Given the description of an element on the screen output the (x, y) to click on. 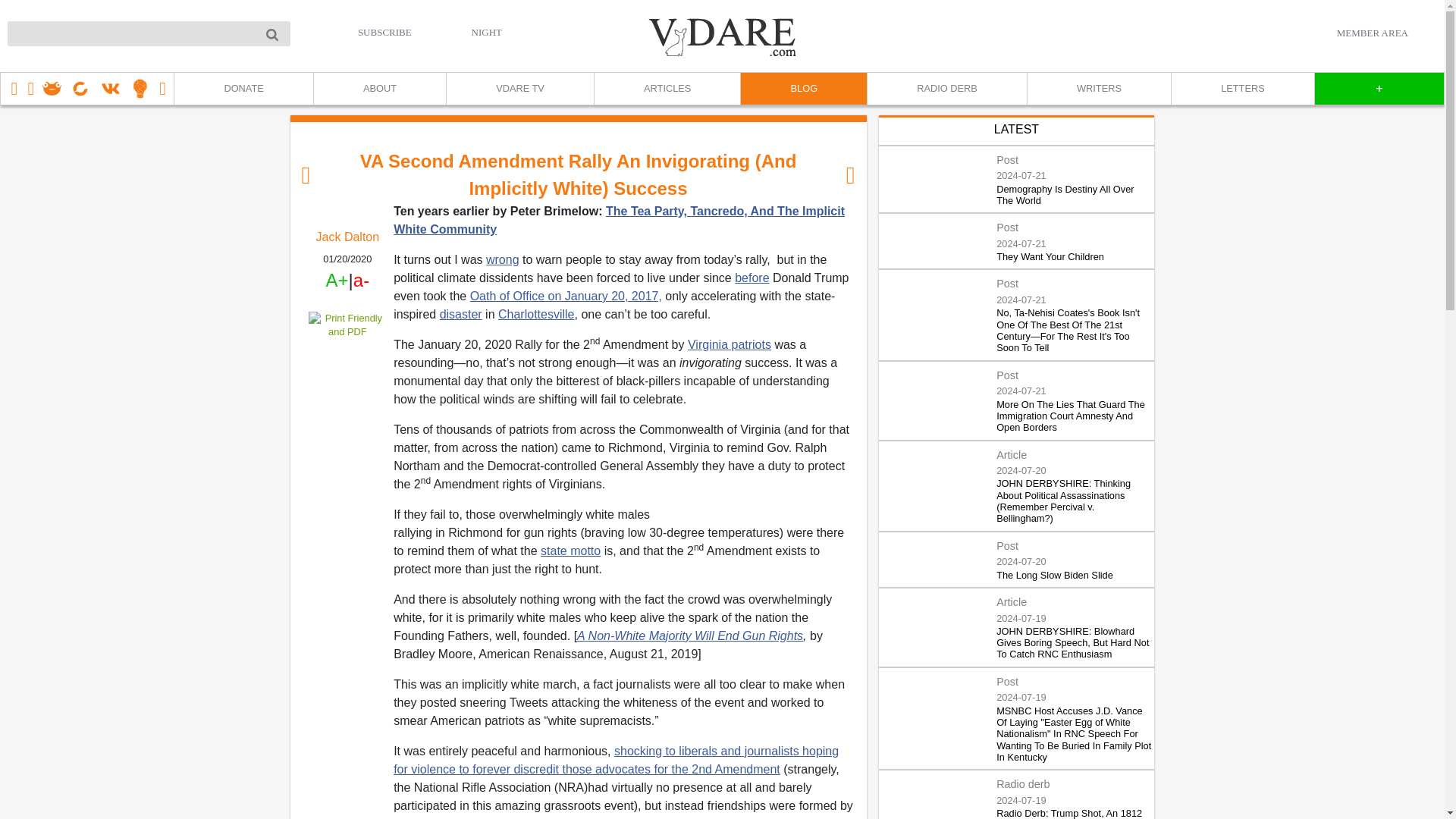
Share to Email (347, 416)
ARTICLES (666, 88)
LETTERS (1242, 88)
VDARE TV (519, 88)
WRITERS (1098, 88)
ABOUT (379, 88)
DONATE (243, 88)
SUBSCRIBE (385, 31)
Share to Twitter (347, 371)
MEMBER AREA (1371, 32)
BLOG (802, 88)
RADIO DERB (946, 88)
Printer Friendly and PDF (347, 324)
